Given the description of an element on the screen output the (x, y) to click on. 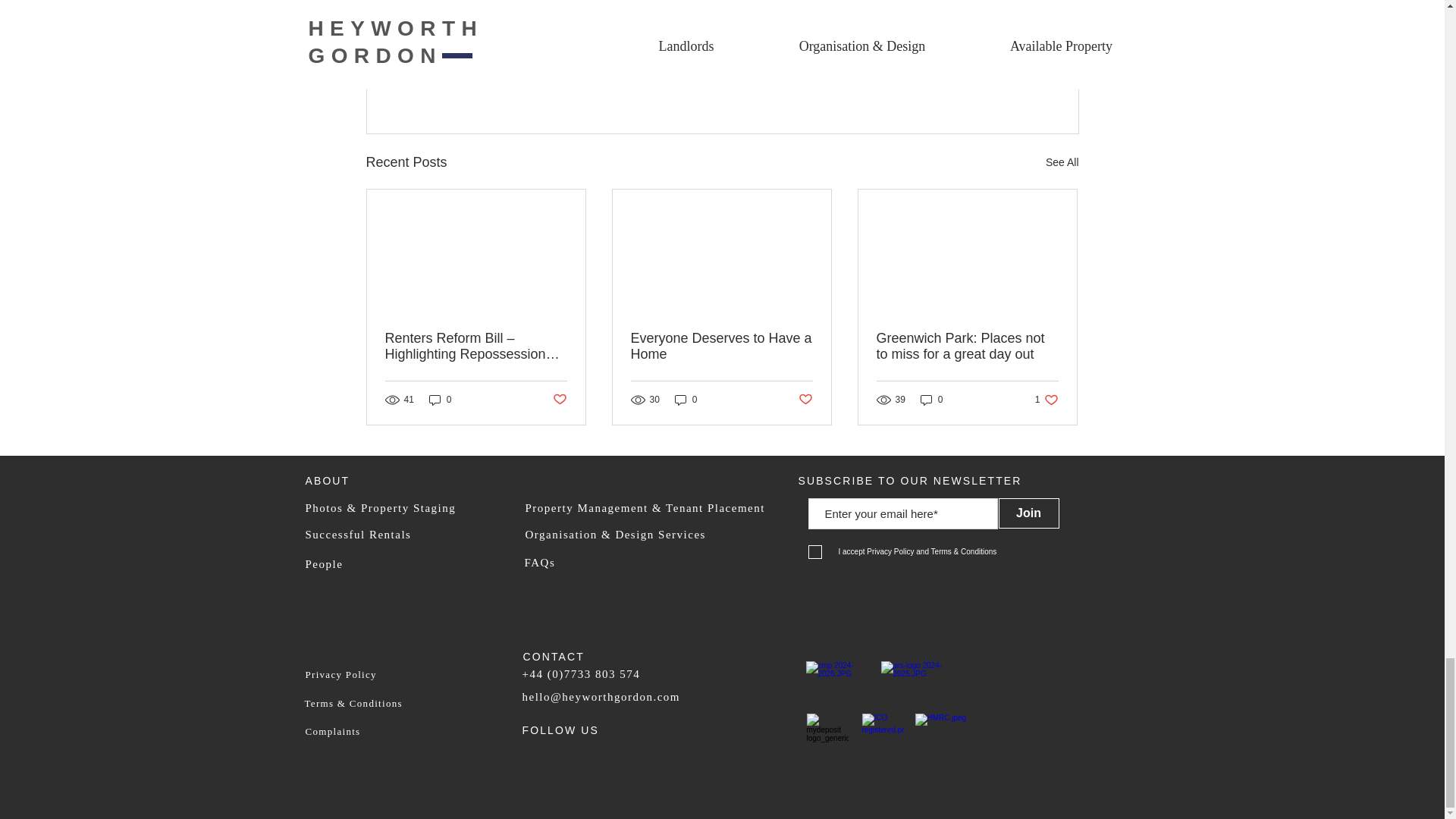
Complaints (331, 731)
Post not marked as liked (558, 399)
0 (440, 400)
Post not marked as liked (804, 399)
Greenwich Park: Places not to miss for a great day out (990, 79)
ABOUT (967, 346)
Everyone Deserves to Have a Home (326, 480)
Successful Rentals (721, 346)
Privacy Policy (1046, 400)
0 (357, 533)
0 (339, 674)
See All (685, 400)
People (931, 400)
